Given the description of an element on the screen output the (x, y) to click on. 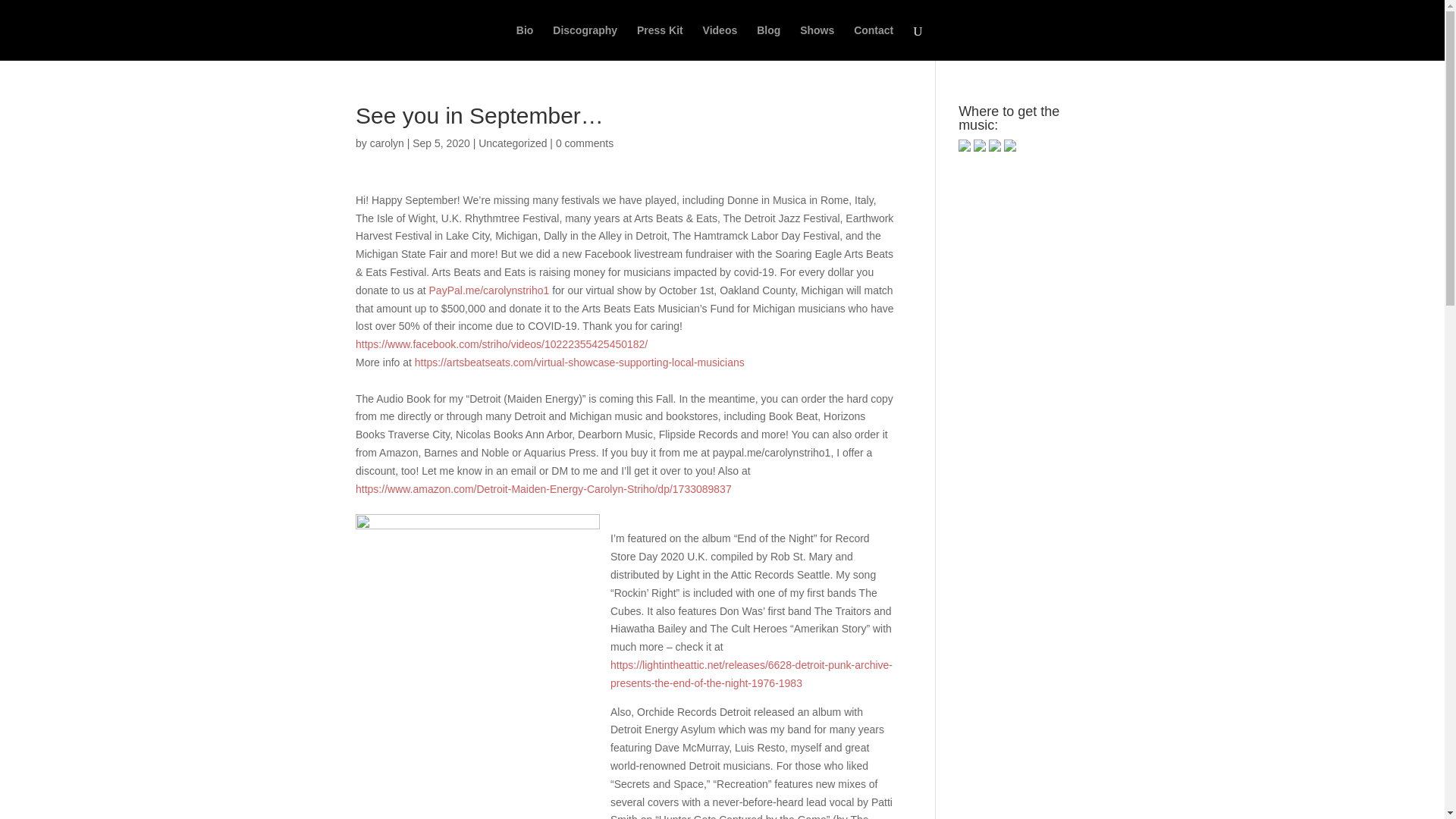
Uncategorized (513, 143)
Contact (873, 42)
Videos (720, 42)
Discography (585, 42)
Press Kit (659, 42)
Shows (816, 42)
0 comments (584, 143)
carolyn (386, 143)
Posts by carolyn (386, 143)
